Given the description of an element on the screen output the (x, y) to click on. 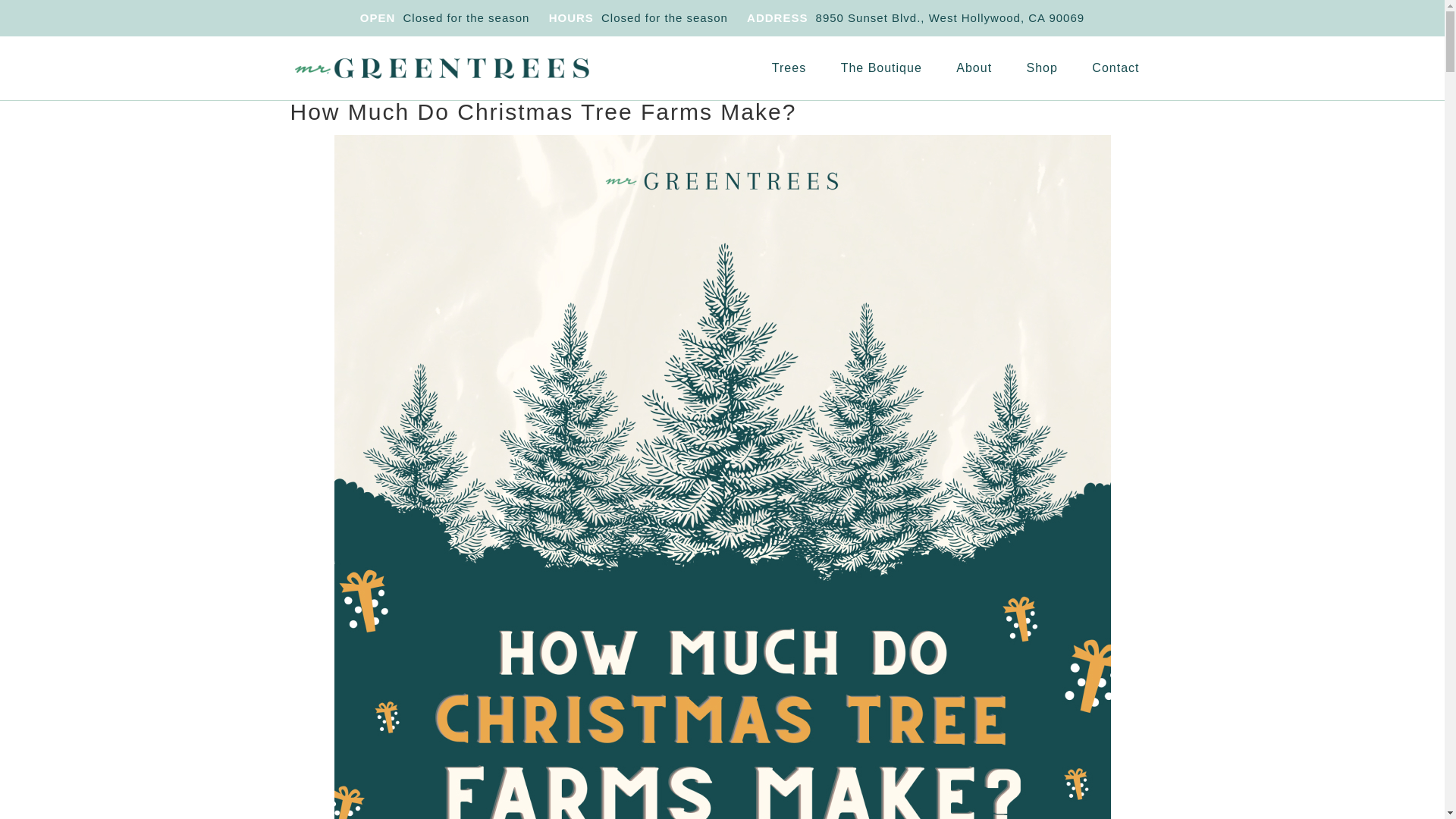
Trees (789, 67)
About (973, 67)
The Boutique (881, 67)
MR. GREENTREES (440, 68)
Shop (1042, 67)
Contact (1115, 67)
How Much Do Christmas Tree Farms Make? (542, 111)
